Given the description of an element on the screen output the (x, y) to click on. 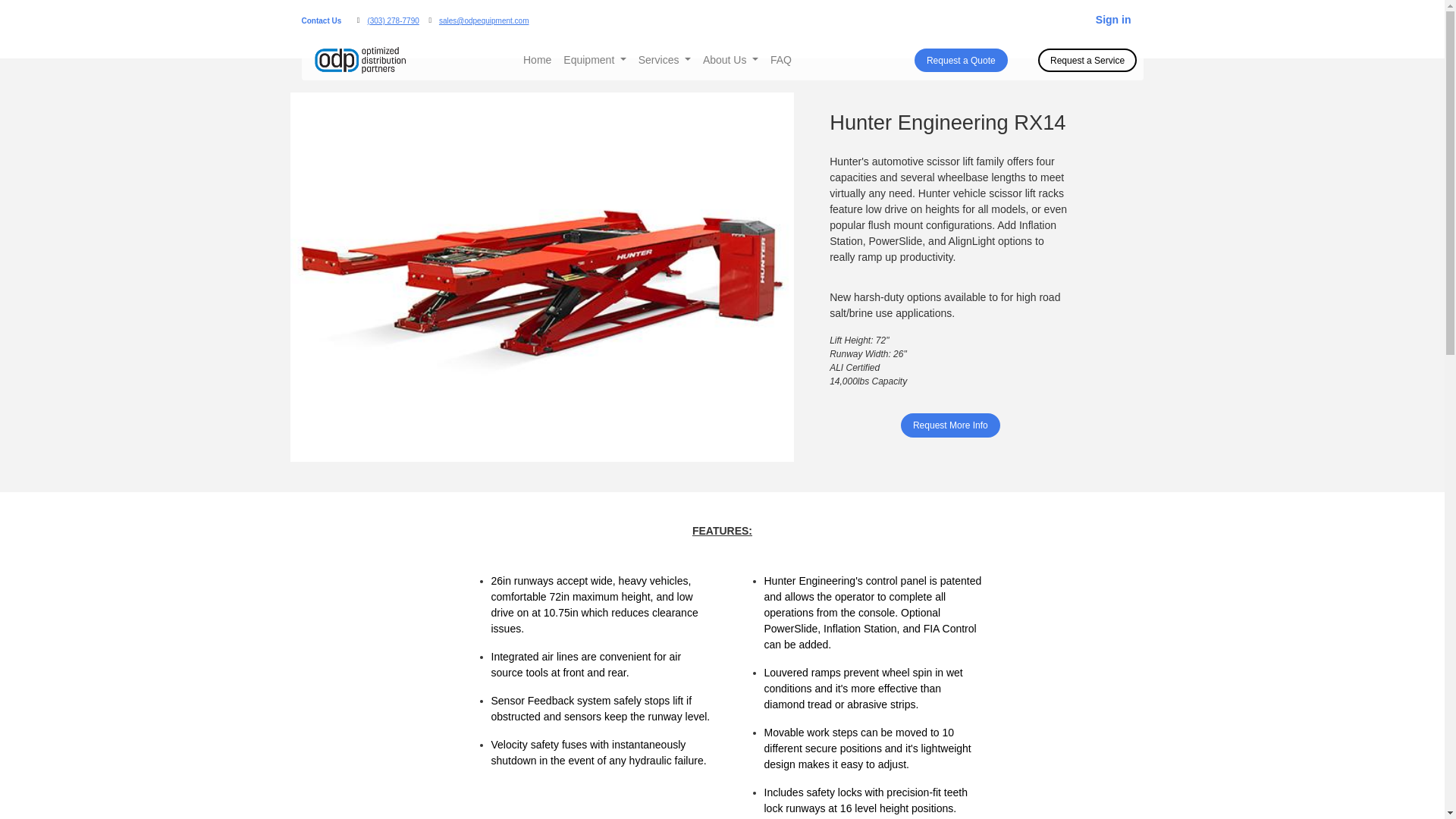
About Us (730, 59)
Services (664, 59)
Request a Quote (961, 60)
Request a Service (1087, 60)
FAQ (780, 59)
Equipment (594, 59)
Home (536, 59)
Sign in (1112, 19)
Optimized Distribution Partners (360, 59)
